Given the description of an element on the screen output the (x, y) to click on. 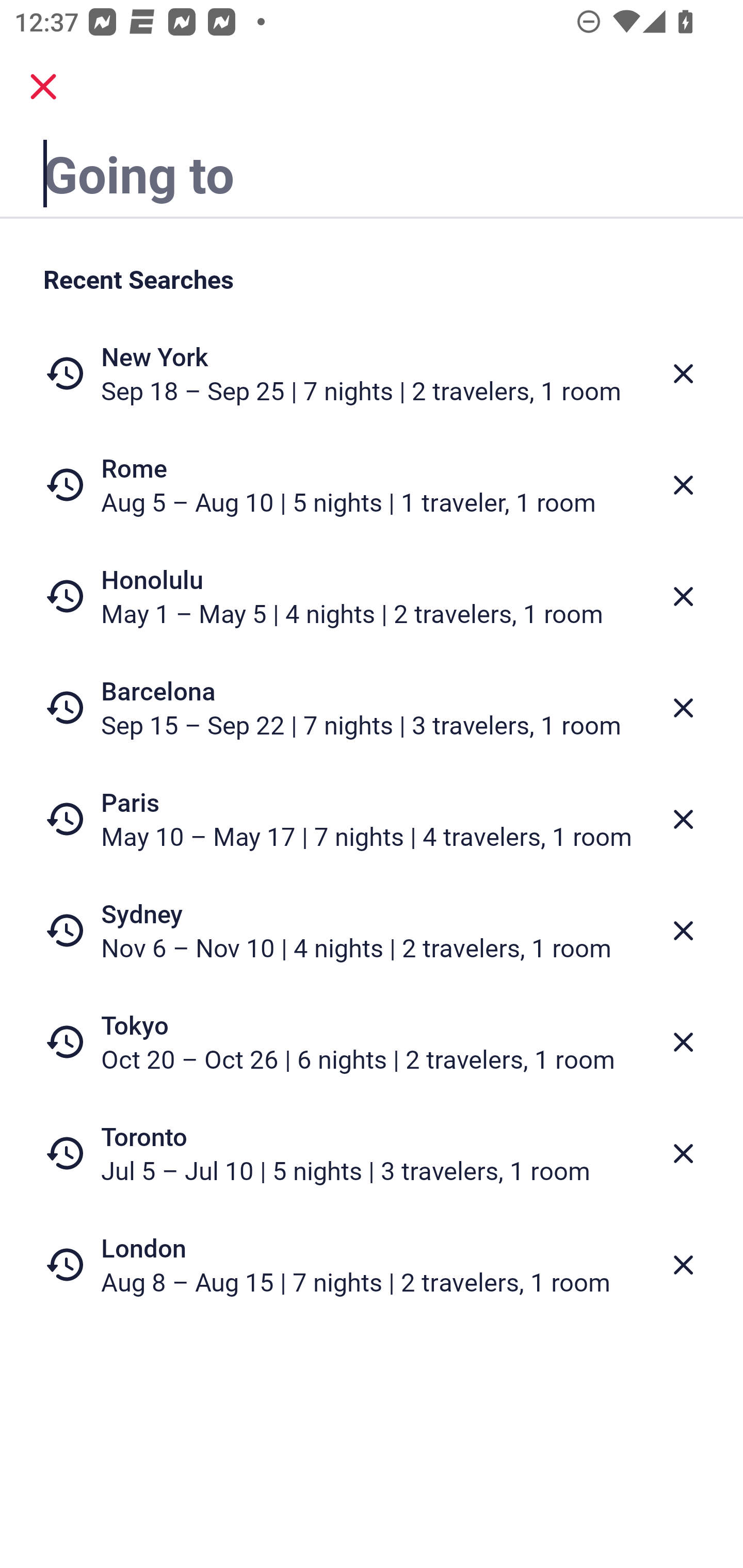
close. (43, 86)
Delete from recent searches (683, 373)
Delete from recent searches (683, 485)
Delete from recent searches (683, 596)
Delete from recent searches (683, 707)
Delete from recent searches (683, 819)
Delete from recent searches (683, 930)
Delete from recent searches (683, 1041)
Delete from recent searches (683, 1153)
Delete from recent searches (683, 1265)
